Given the description of an element on the screen output the (x, y) to click on. 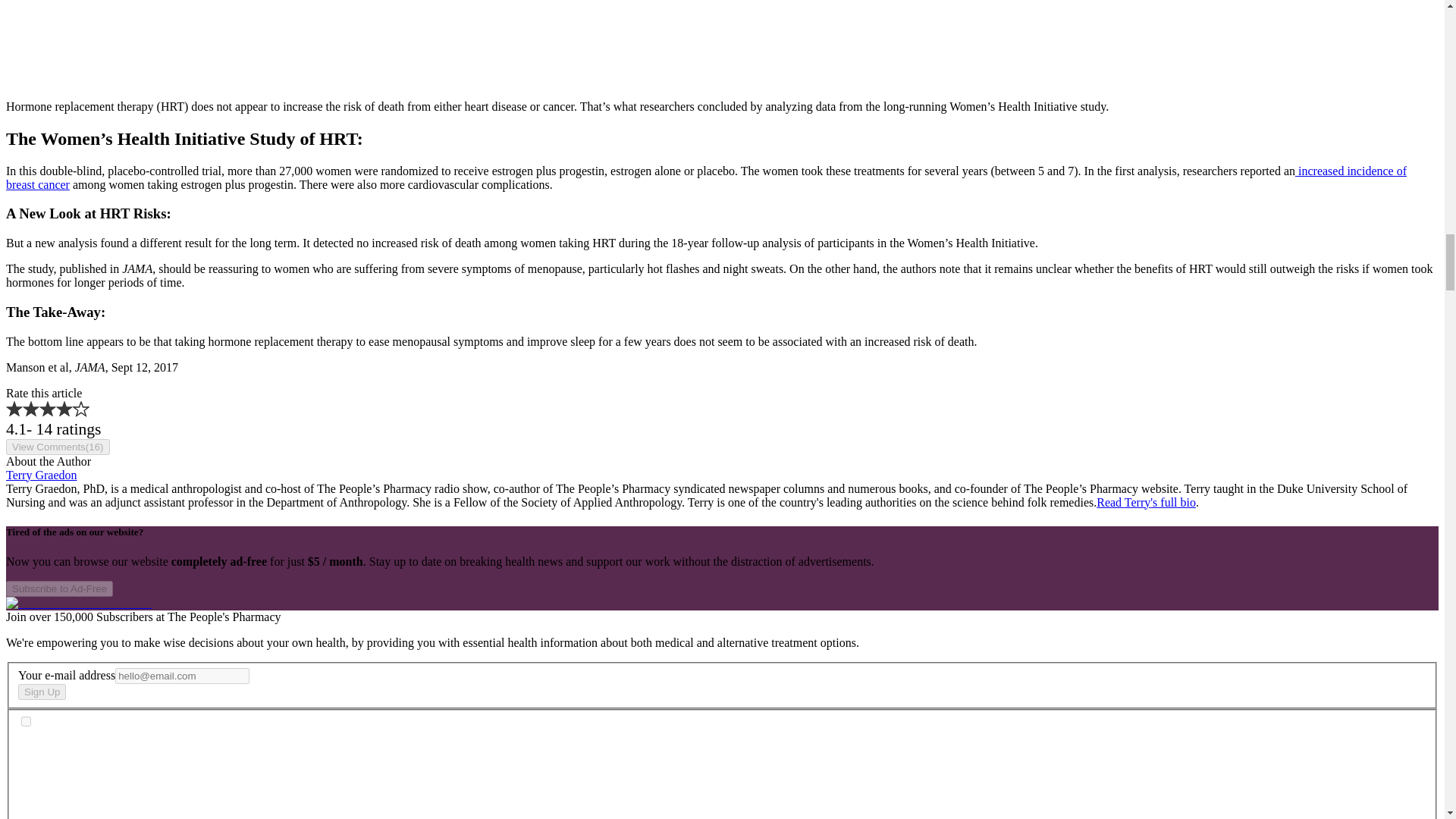
Sign Up (41, 691)
increased incidence of breast cancer (705, 177)
Subscribe to Ad-Free (59, 588)
Subscribe to Ad-Free (59, 587)
star-fullstar-empty (80, 408)
Read Terry's full bio (1145, 502)
